Given the description of an element on the screen output the (x, y) to click on. 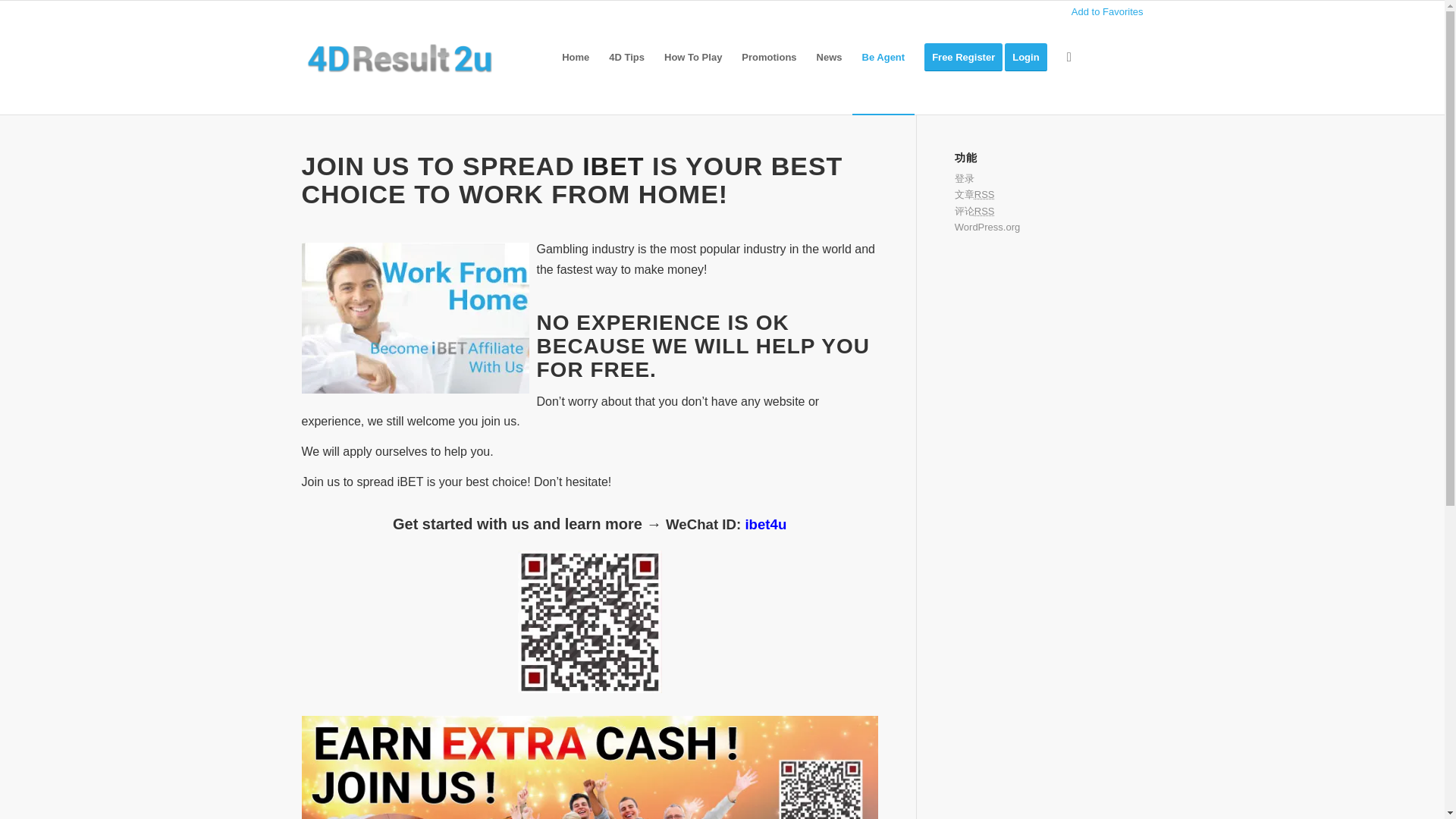
Really Simple Syndication (984, 194)
Add to Favorites (1106, 11)
Really Simple Syndication (984, 211)
WordPress.org (987, 226)
